Given the description of an element on the screen output the (x, y) to click on. 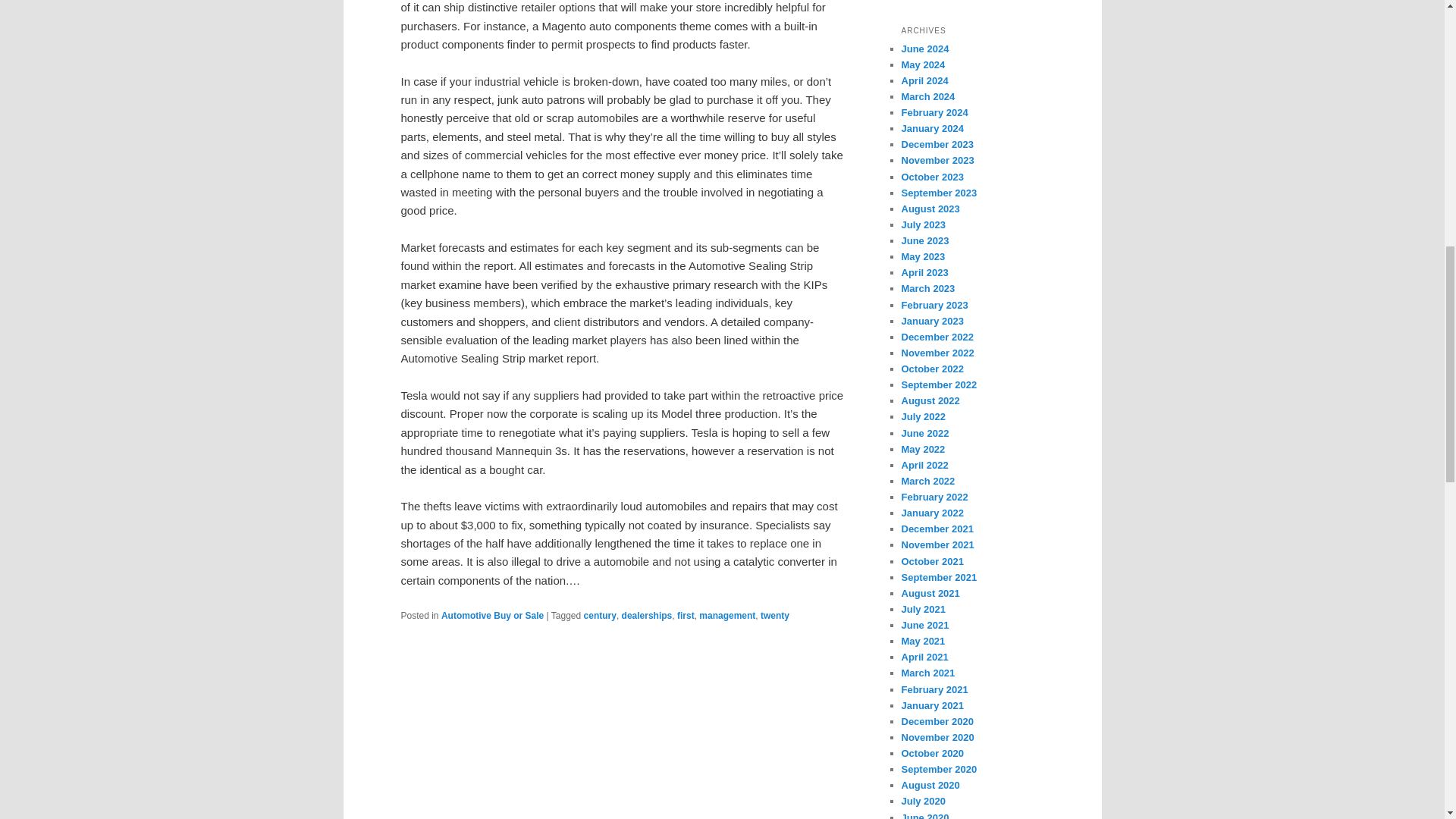
December 2023 (936, 143)
March 2024 (928, 96)
January 2024 (931, 128)
April 2024 (924, 80)
July 2023 (922, 224)
February 2024 (934, 112)
May 2023 (922, 256)
dealerships (646, 615)
June 2023 (925, 240)
twenty (774, 615)
management (726, 615)
November 2023 (937, 160)
first (685, 615)
century (599, 615)
August 2023 (930, 208)
